Given the description of an element on the screen output the (x, y) to click on. 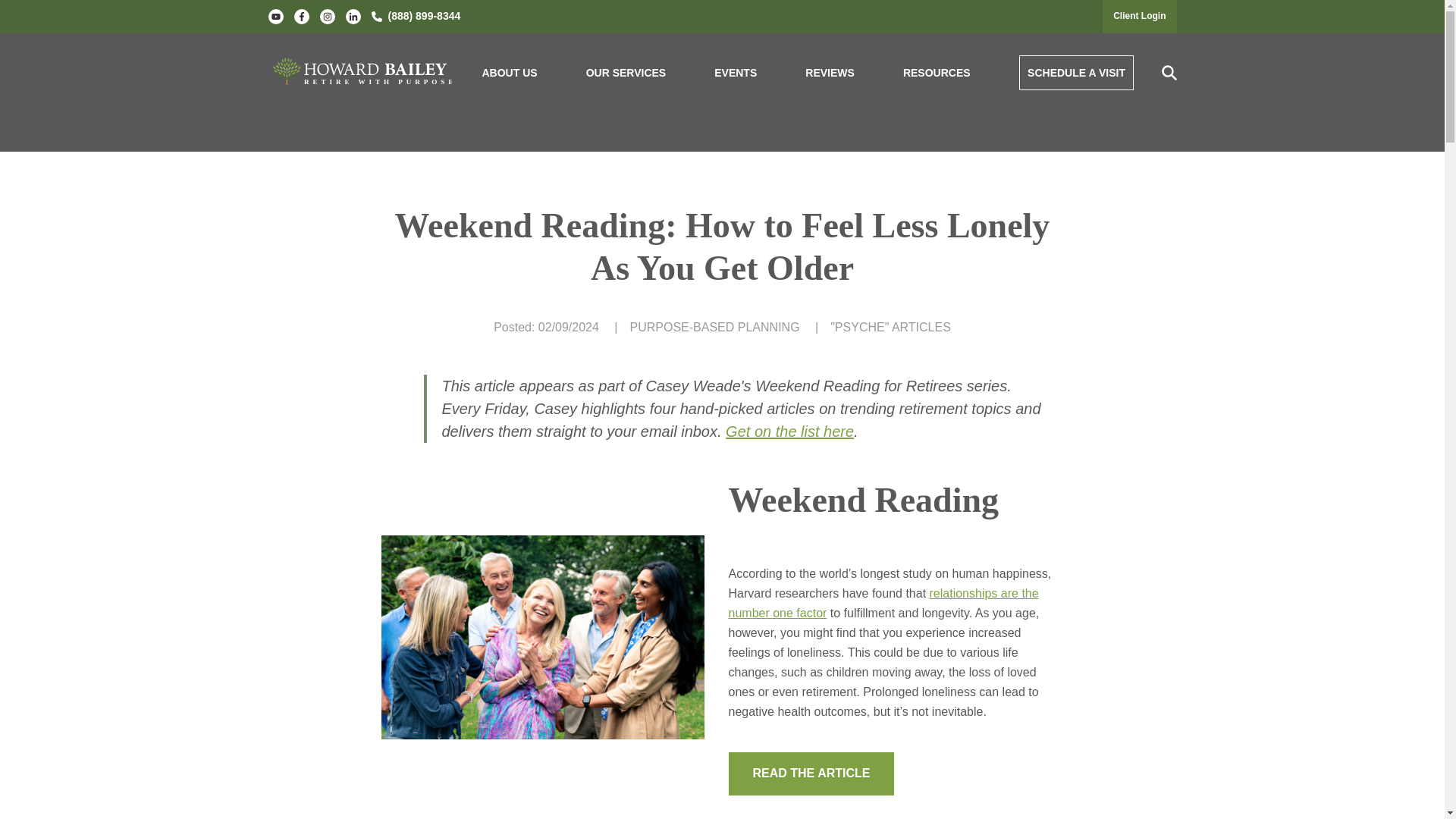
OUR SERVICES (626, 72)
Client Login (1139, 16)
EVENTS (735, 72)
SCHEDULE A VISIT (1077, 72)
RESOURCES (936, 72)
ABOUT US (509, 72)
REVIEWS (829, 72)
